Given the description of an element on the screen output the (x, y) to click on. 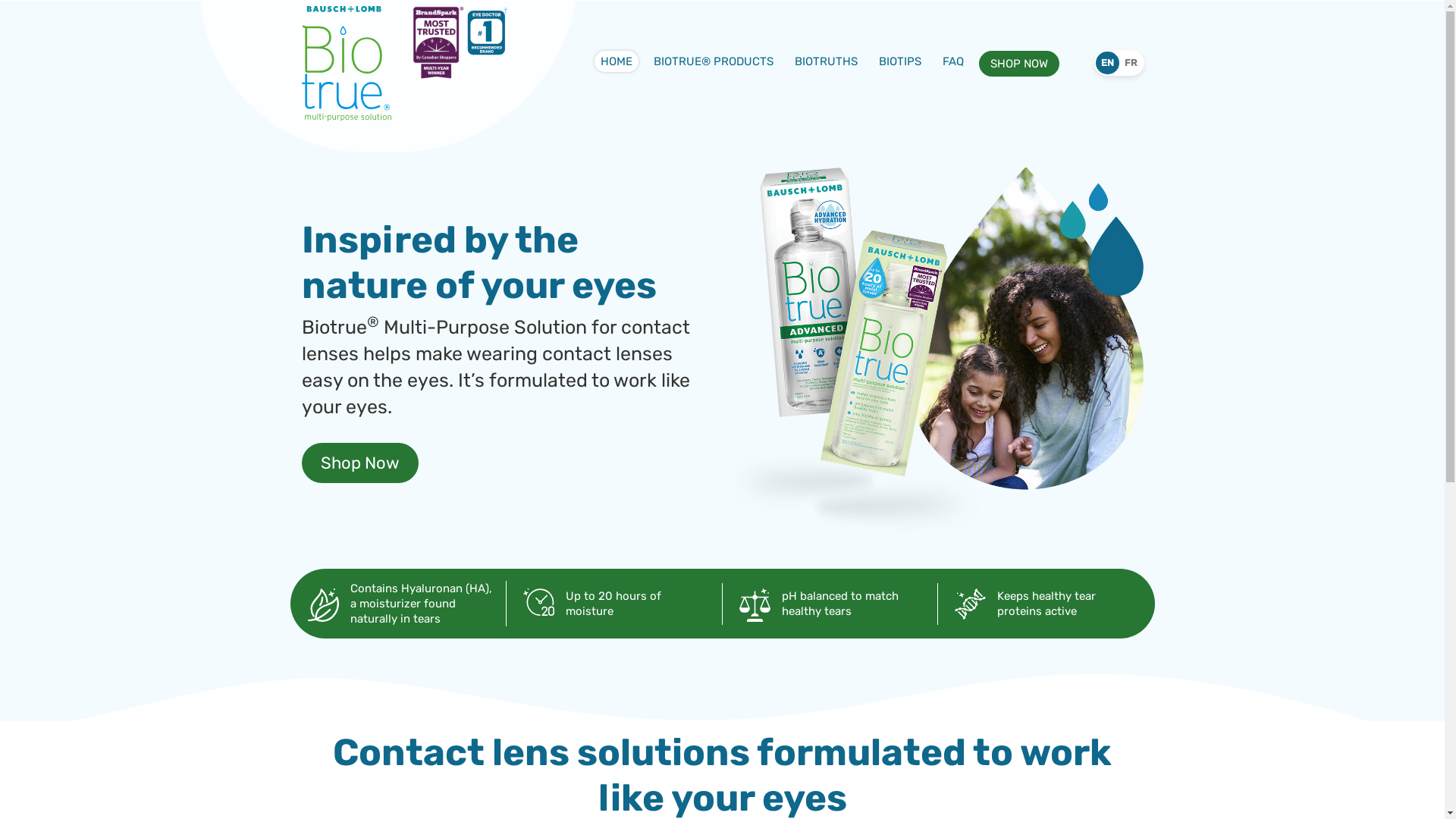
FAQ Element type: text (952, 61)
FR Element type: text (1130, 62)
Shop Now Element type: text (359, 462)
SHOP NOW Element type: text (1018, 63)
HOME Element type: text (616, 61)
BIOTRUTHS Element type: text (825, 61)
EN Element type: text (1107, 62)
BIOTIPS Element type: text (899, 61)
